Given the description of an element on the screen output the (x, y) to click on. 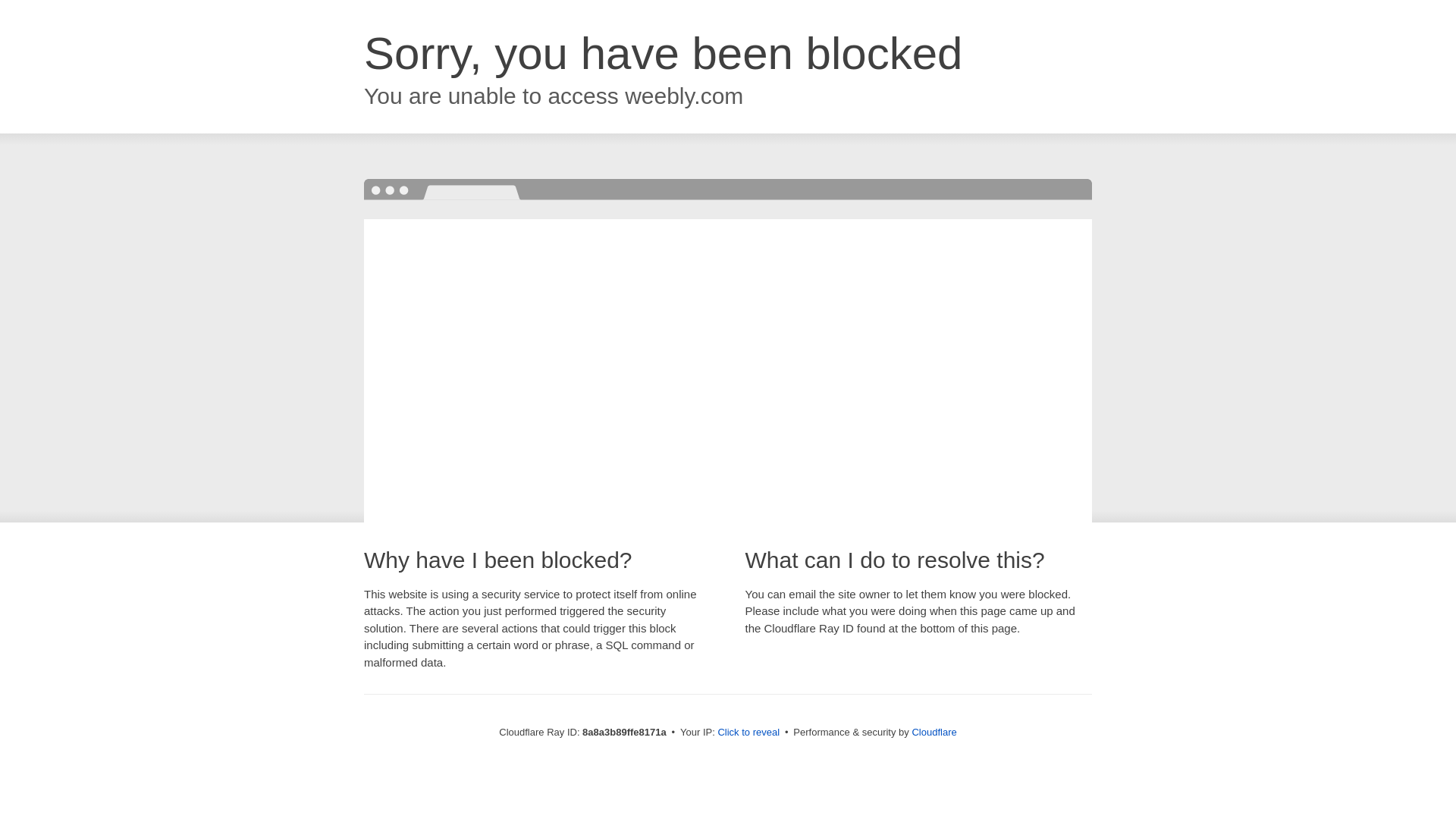
Cloudflare (933, 731)
Click to reveal (747, 732)
